Given the description of an element on the screen output the (x, y) to click on. 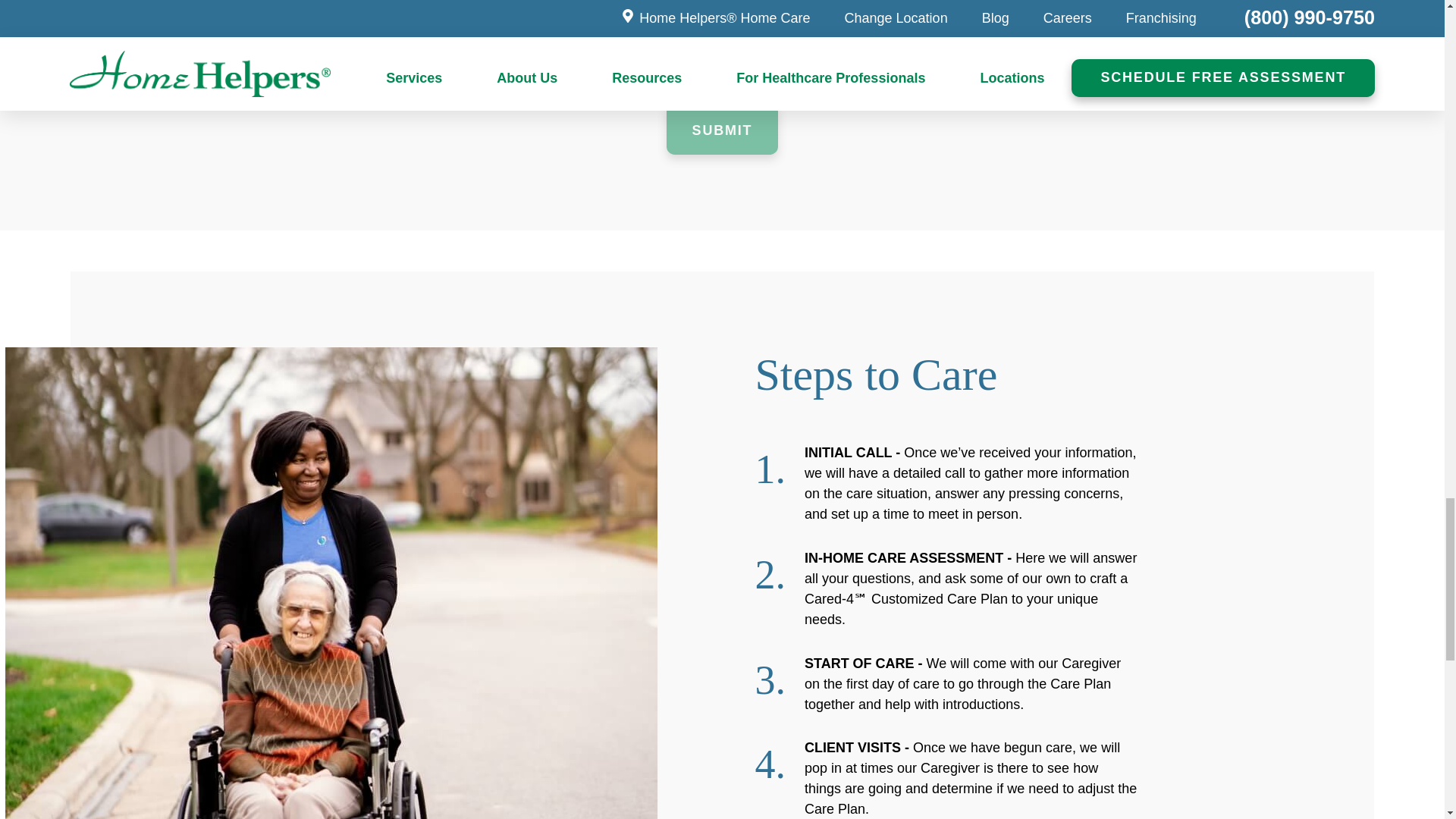
1 (364, 2)
Submit (721, 129)
